Given the description of an element on the screen output the (x, y) to click on. 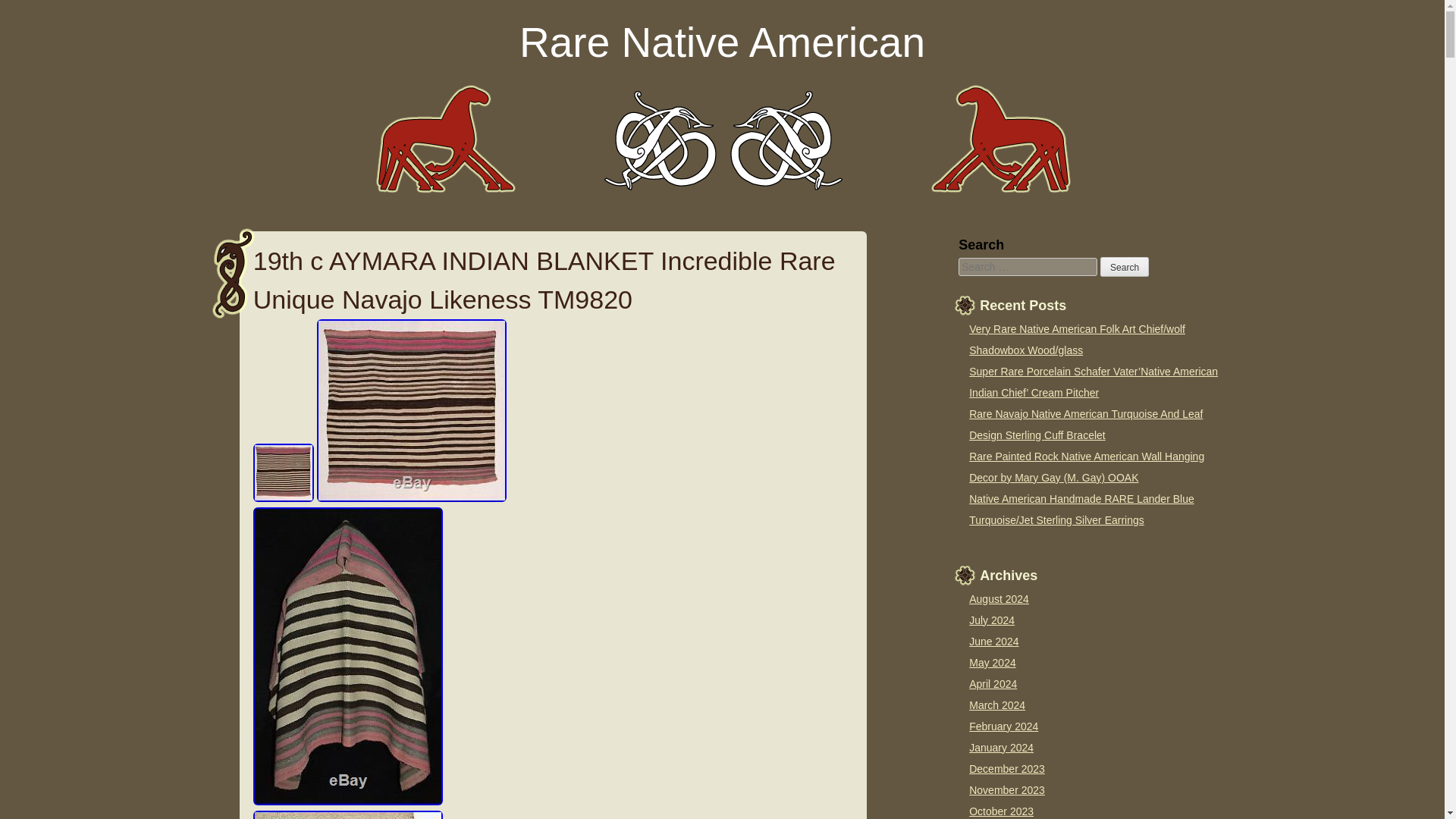
June 2024 (993, 641)
October 2023 (1001, 811)
January 2024 (1001, 747)
Search (1124, 266)
February 2024 (1003, 726)
March 2024 (997, 705)
May 2024 (991, 662)
Search (1124, 266)
